Given the description of an element on the screen output the (x, y) to click on. 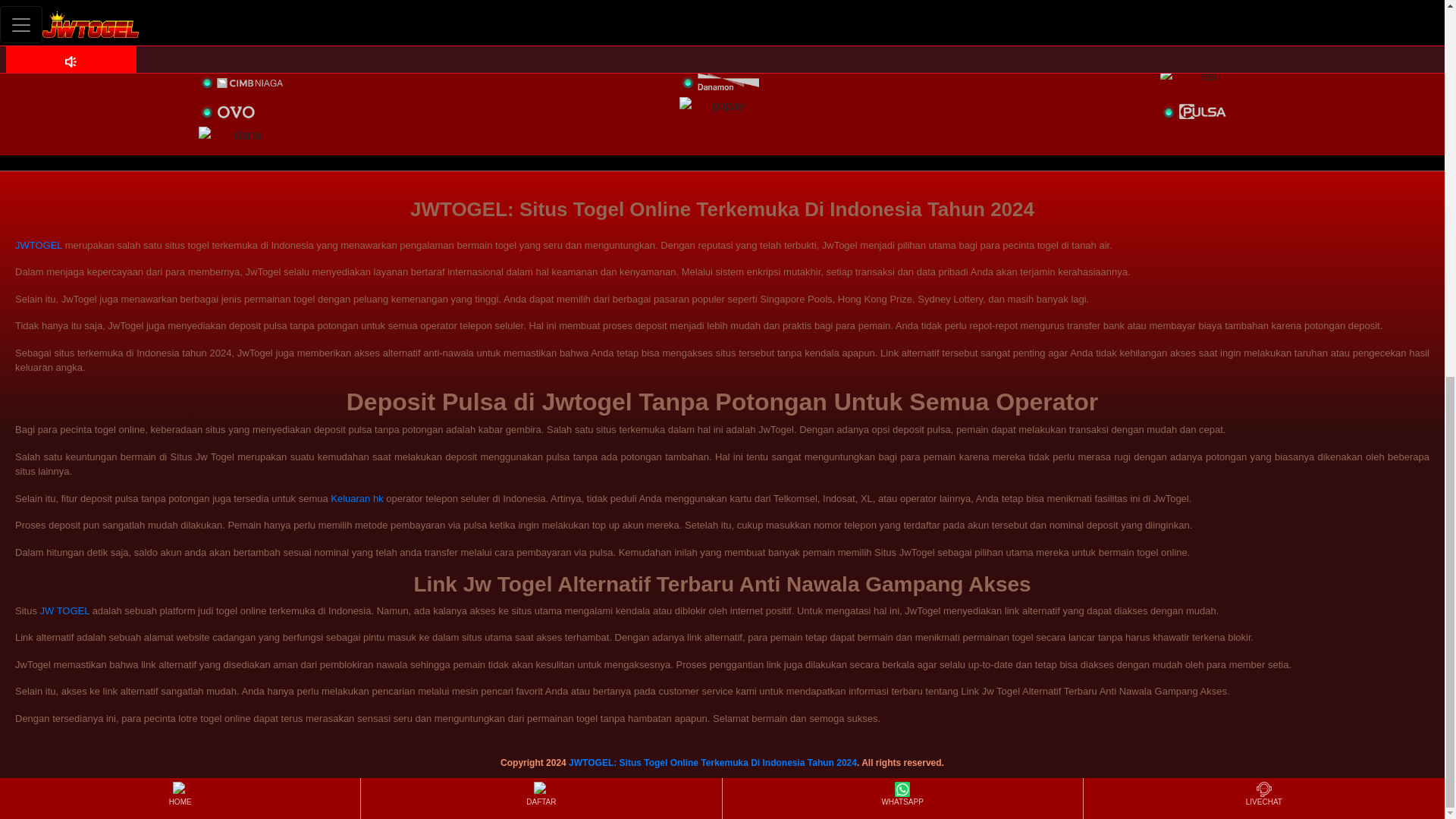
HOME (179, 103)
Keluaran hk (356, 498)
LIVECHAT (1263, 103)
WHATSAPP (901, 103)
JWTOGEL (38, 244)
DAFTAR (540, 103)
JW TOGEL (65, 610)
